Given the description of an element on the screen output the (x, y) to click on. 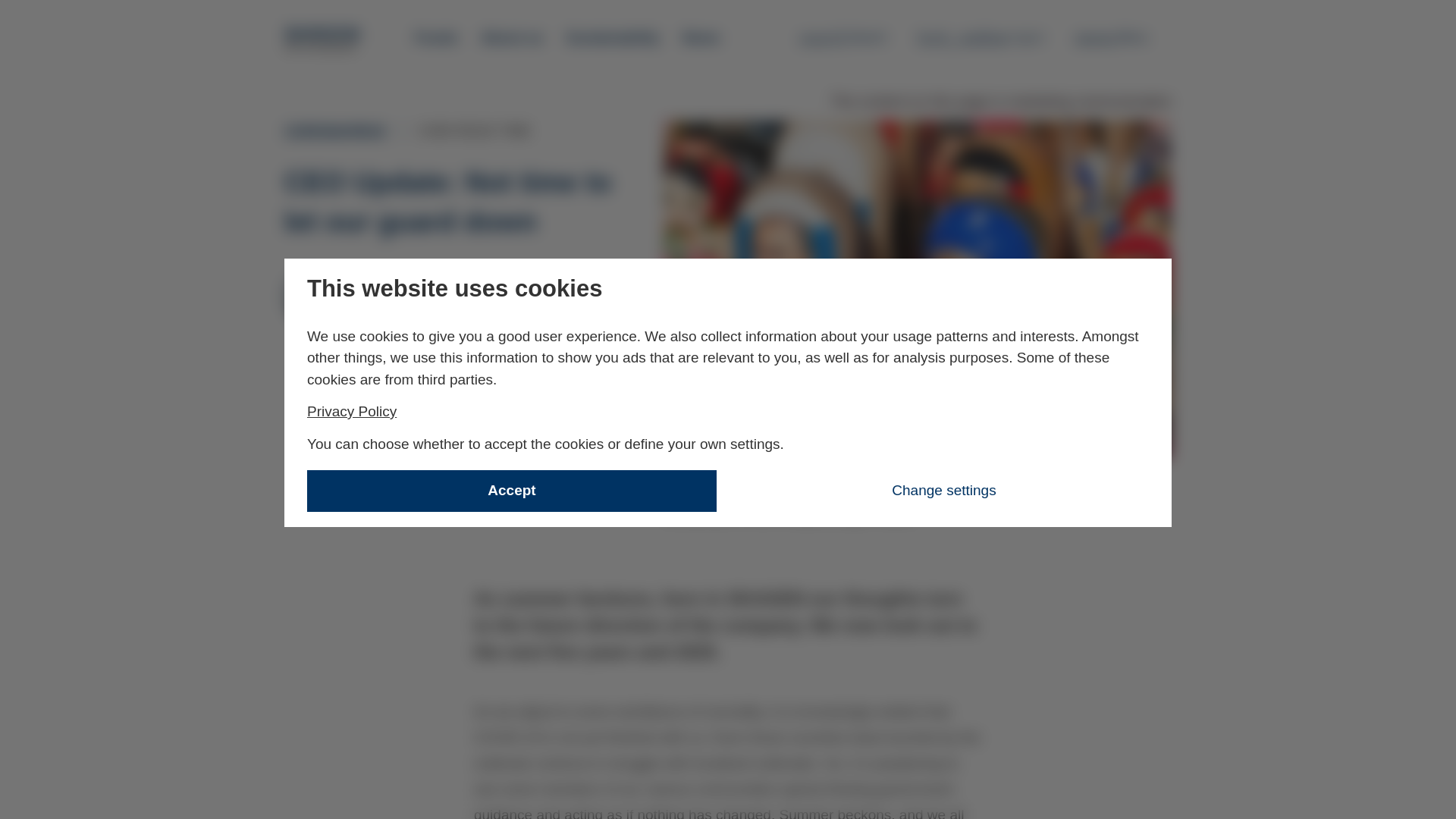
SKAGEN Funds (323, 39)
About us (511, 37)
Funds (1121, 37)
Global Stock Markets (436, 37)
Timothy Warrington (356, 370)
Sustainability (427, 281)
